Given the description of an element on the screen output the (x, y) to click on. 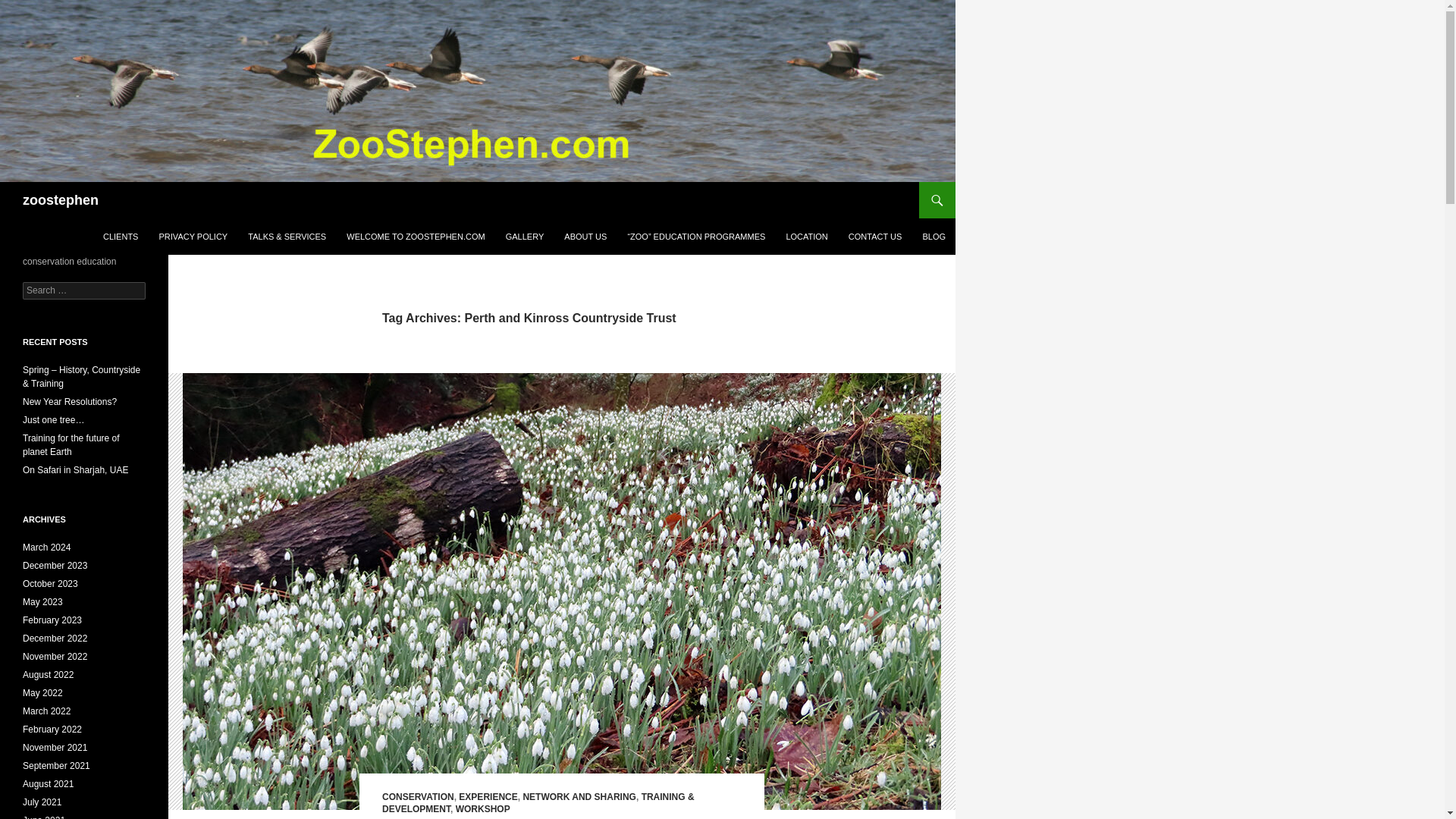
WELCOME TO ZOOSTEPHEN.COM (415, 236)
LOCATION (805, 236)
ABOUT US (584, 236)
GALLERY (524, 236)
zoostephen (61, 199)
BLOG (933, 236)
WORKSHOP (483, 808)
CLIENTS (120, 236)
CONSERVATION (417, 796)
CONTACT US (875, 236)
NETWORK AND SHARING (579, 796)
PRIVACY POLICY (193, 236)
EXPERIENCE (487, 796)
